Given the description of an element on the screen output the (x, y) to click on. 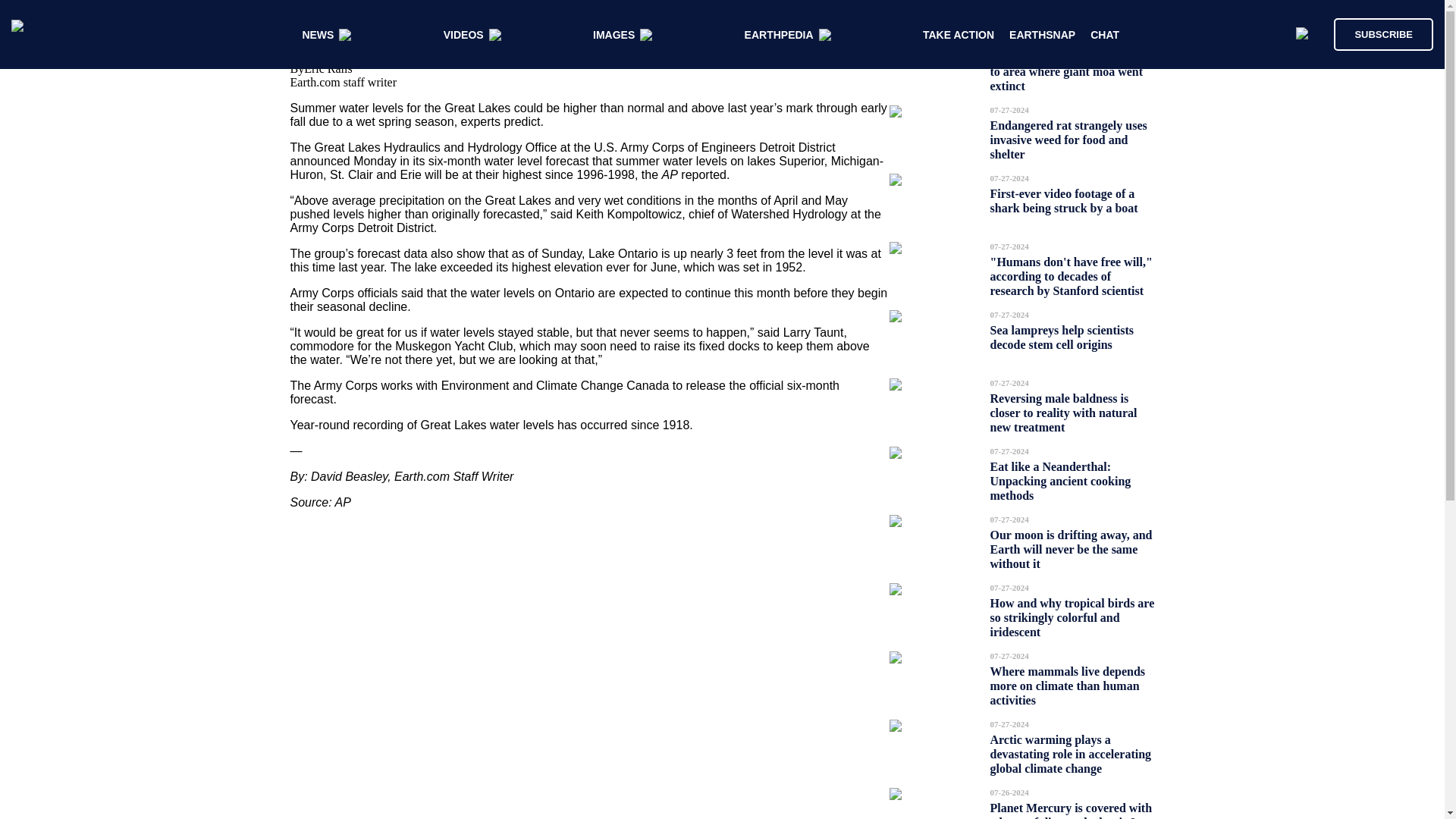
First-ever video footage of a shark being struck by a boat (1064, 200)
AP (342, 502)
Superior (801, 160)
Eat like a Neanderthal: Unpacking ancient cooking methods (1060, 480)
Sea lampreys help scientists decode stem cell origins (1062, 337)
David Beasley, (352, 476)
EARTHSNAP (1042, 34)
TAKE ACTION (958, 34)
Earth.com (421, 476)
